Given the description of an element on the screen output the (x, y) to click on. 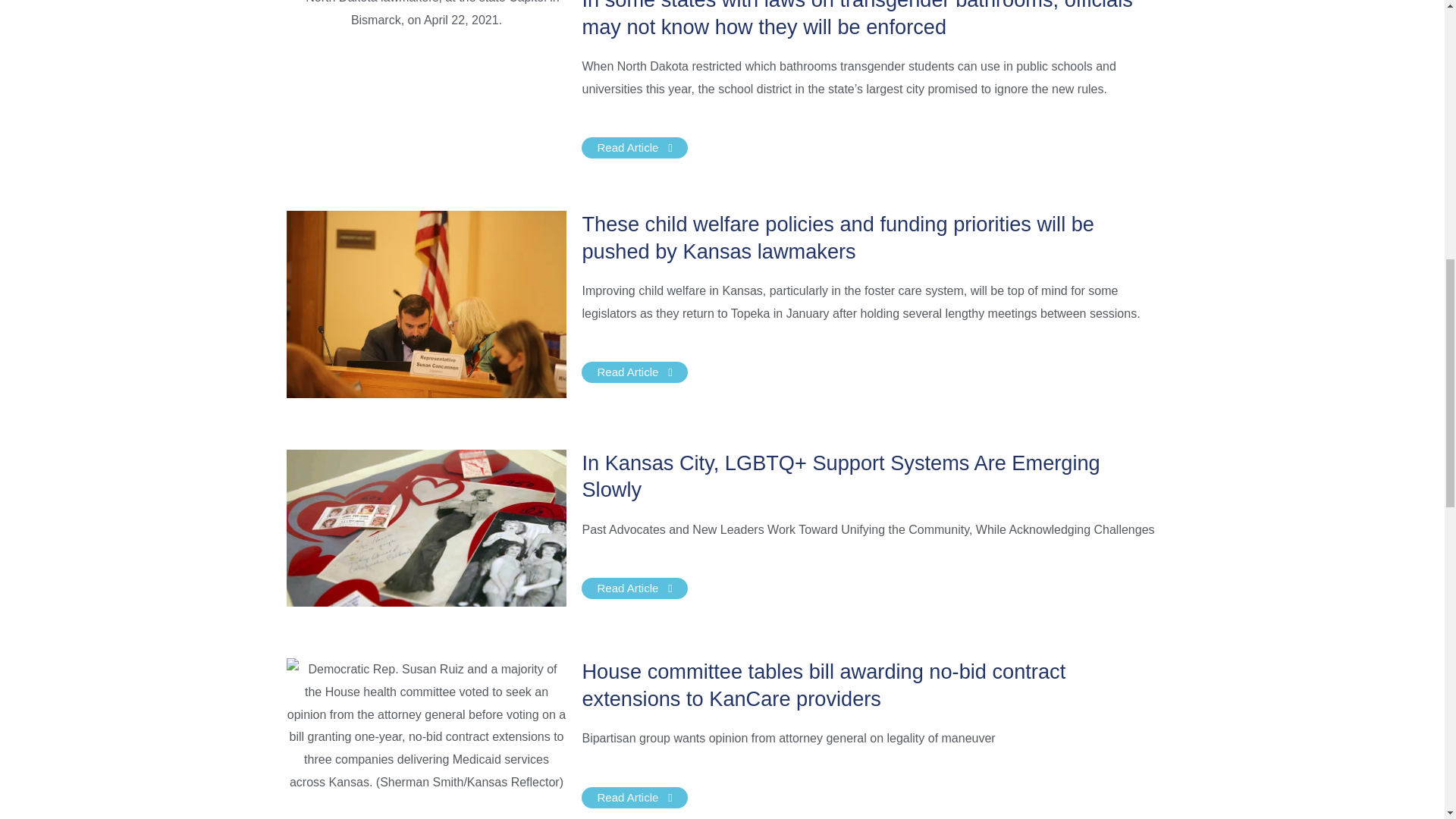
Read Article (633, 147)
Read Article (633, 797)
Read Article (633, 588)
Read Article (633, 372)
